Given the description of an element on the screen output the (x, y) to click on. 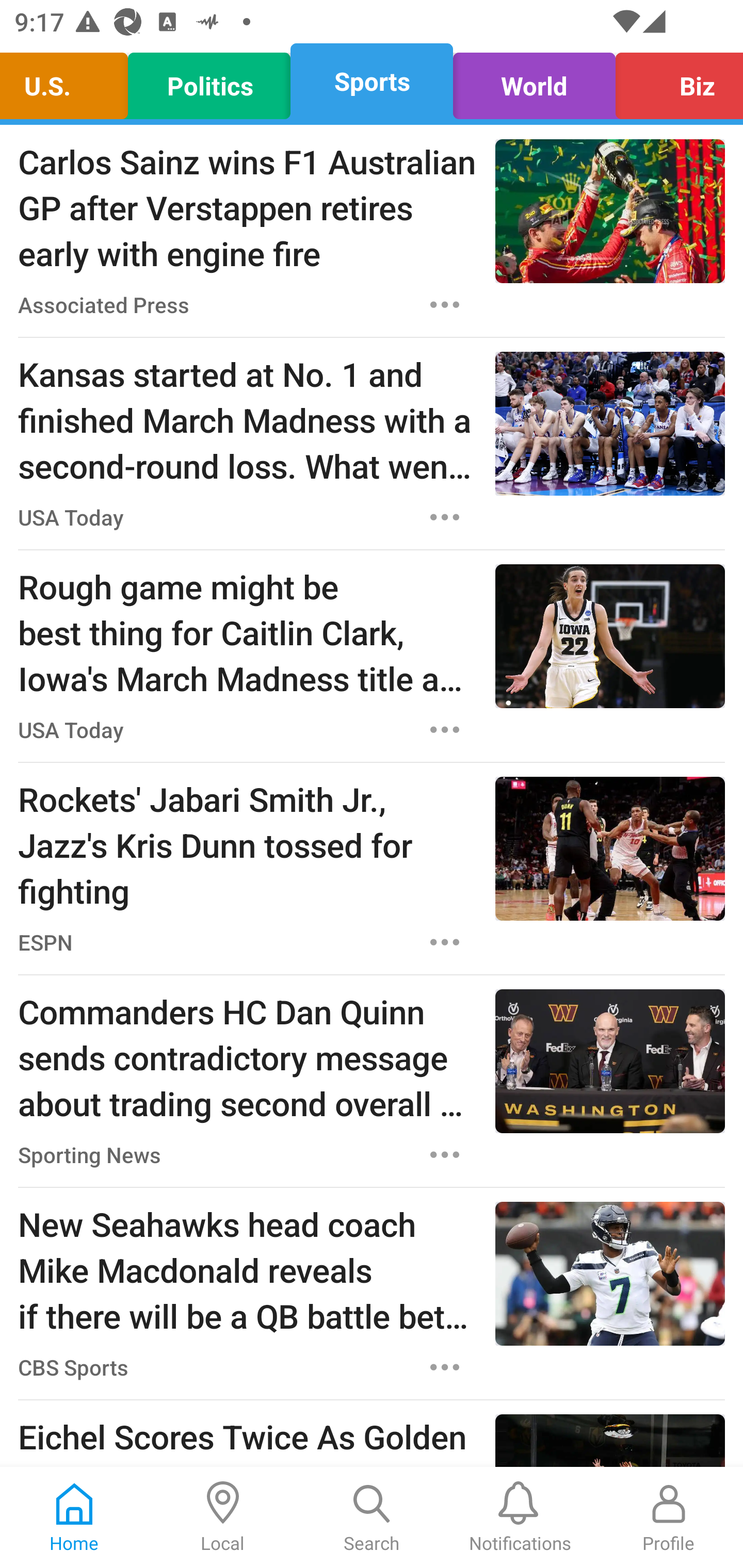
U.S. (69, 81)
Politics (209, 81)
Sports (371, 81)
World (534, 81)
Biz (673, 81)
Options (444, 304)
Options (444, 517)
Options (444, 729)
Options (444, 942)
Options (444, 1154)
Options (444, 1367)
Local (222, 1517)
Search (371, 1517)
Notifications (519, 1517)
Profile (668, 1517)
